Given the description of an element on the screen output the (x, y) to click on. 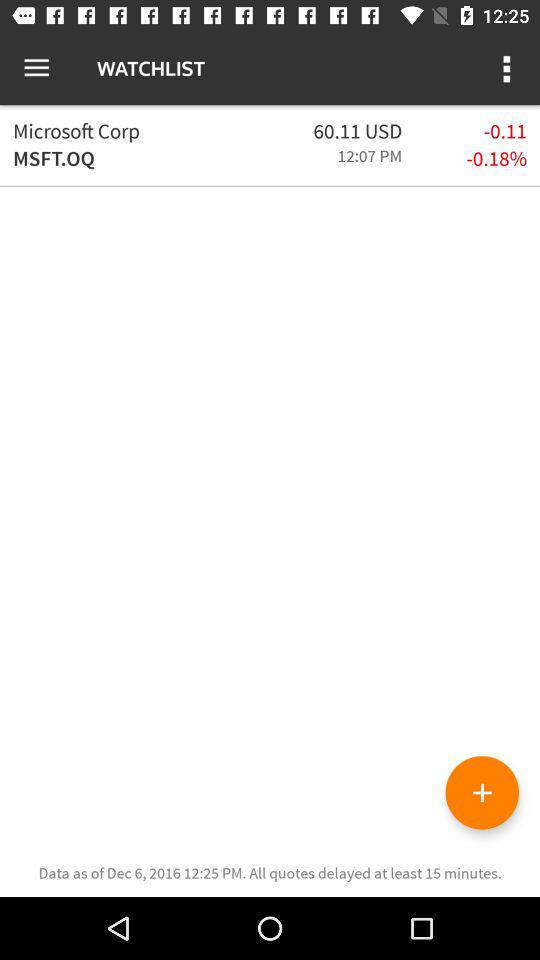
add news to personal watchlist (482, 792)
